Given the description of an element on the screen output the (x, y) to click on. 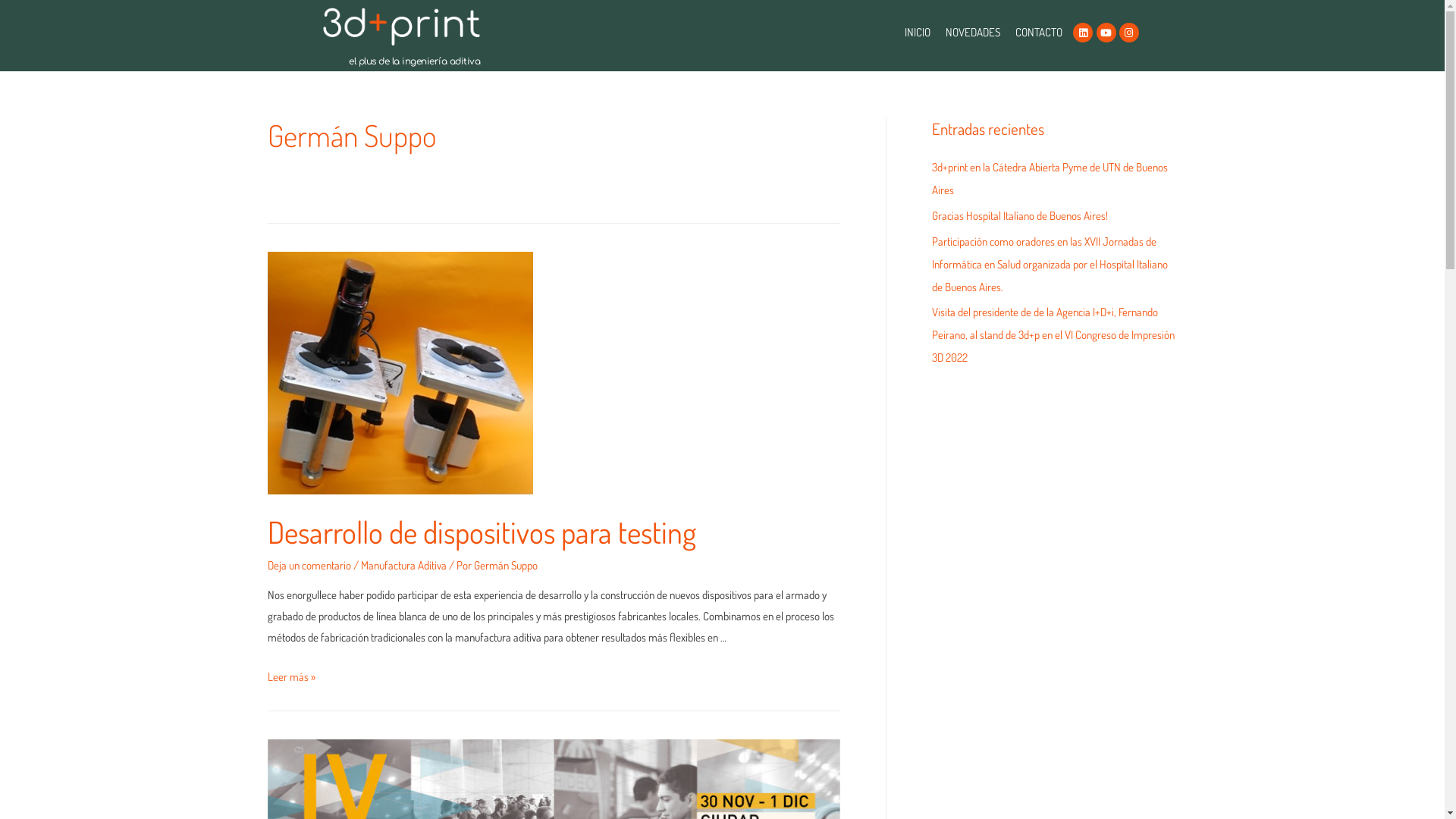
Gracias Hospital Italiano de Buenos Aires! Element type: text (1019, 215)
Manufactura Aditiva Element type: text (403, 565)
NOVEDADES Element type: text (972, 32)
Deja un comentario Element type: text (308, 565)
CONTACTO Element type: text (1038, 32)
Desarrollo de dispositivos para testing Element type: text (480, 531)
INICIO Element type: text (917, 32)
